Given the description of an element on the screen output the (x, y) to click on. 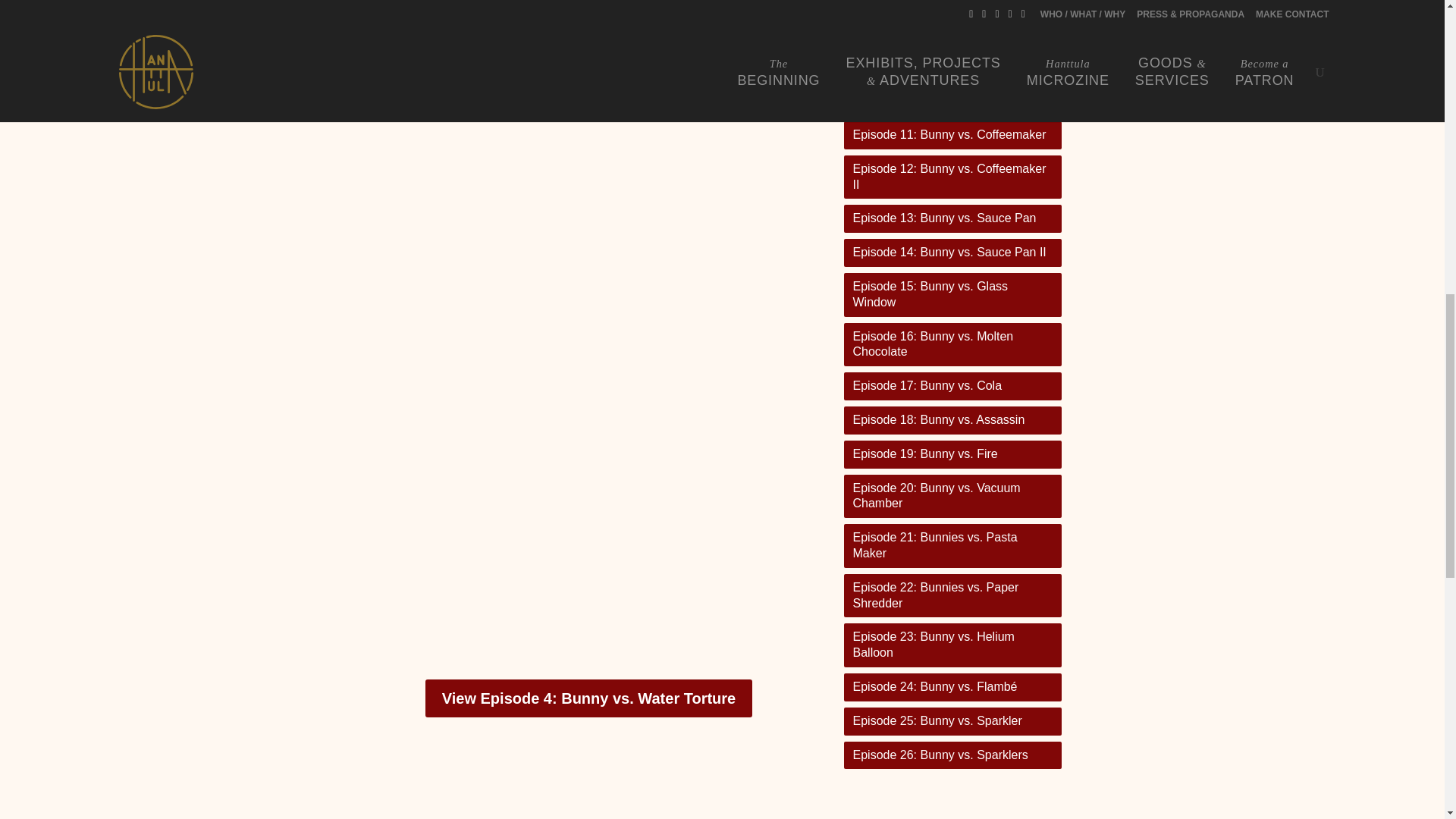
Episode 20: Bunny vs. Vacuum Chamber (952, 496)
Episode 22: Bunnies vs. Paper Shredder (952, 596)
Episode 17: Bunny vs. Cola (952, 386)
Episode 12: Bunny vs. Coffeemaker II (952, 177)
Episode 11: Bunny vs. Coffeemaker (952, 135)
Episode 18: Bunny vs. Assassin (952, 420)
Episode 23: Bunny vs. Helium Balloon (952, 645)
Episode 10: Bunny vs. Doggy (952, 100)
Episode 9: Bunny vs. Golf Club (952, 67)
View Episode 4: Bunny vs. Water Torture (588, 698)
Episode 16: Bunny vs. Molten Chocolate (952, 344)
Episode 19: Bunny vs. Fire (952, 454)
Episode 13: Bunny vs. Sauce Pan (952, 218)
Episode 8: Bunny vs. Hot Metal Pokers (952, 25)
Episode 15: Bunny vs. Glass Window (952, 294)
